Given the description of an element on the screen output the (x, y) to click on. 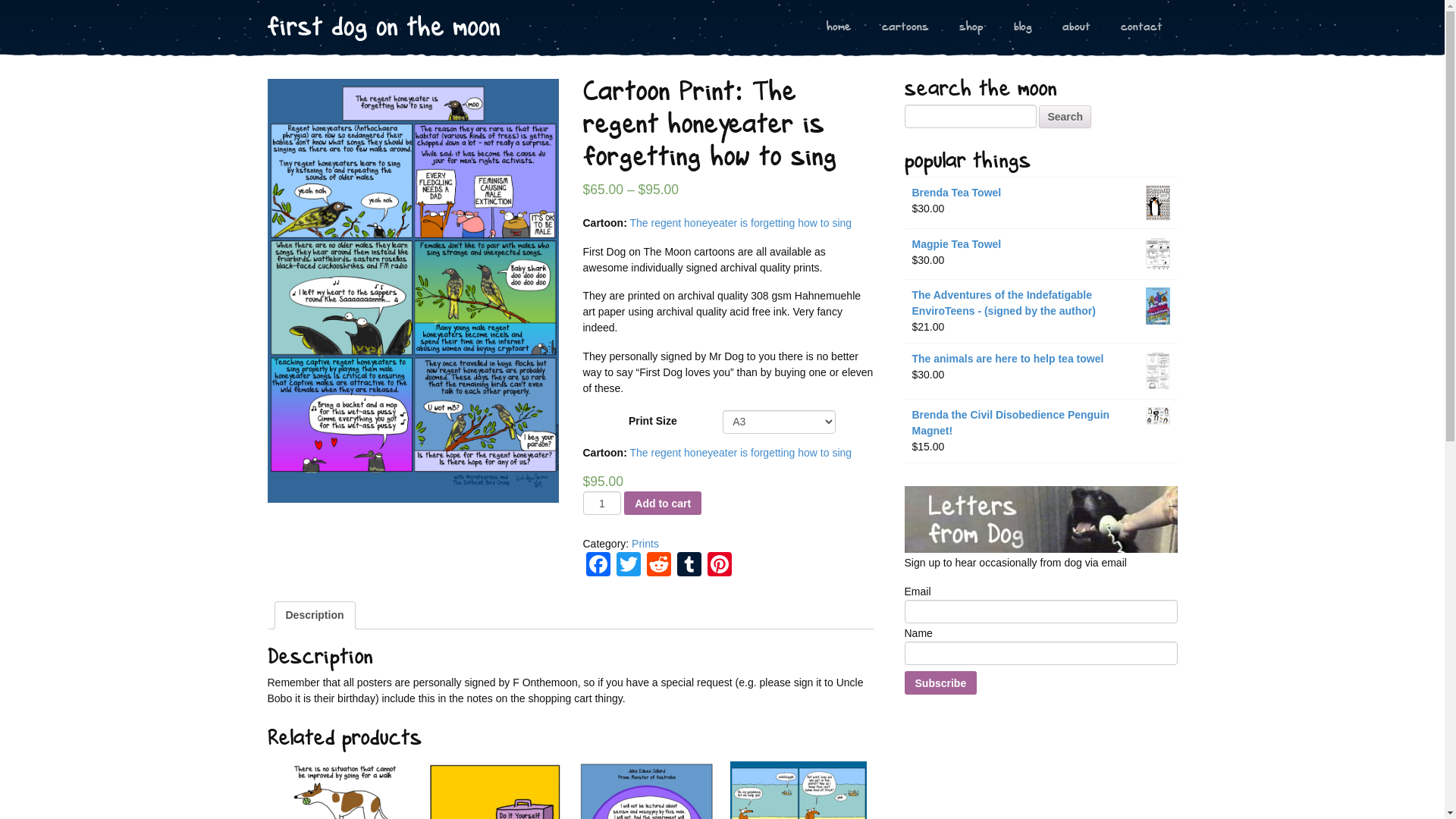
Reddit Element type: text (658, 566)
First Dog On The Moon Element type: text (382, 27)
home Element type: text (838, 27)
Facebook Element type: text (597, 566)
Description Element type: text (314, 615)
cartoons Element type: text (904, 27)
Pinterest Element type: text (718, 566)
contact Element type: text (1141, 27)
Brenda Tea Towel Element type: text (1040, 192)
Tumblr Element type: text (688, 566)
Prints Element type: text (644, 543)
blog Element type: text (1021, 27)
Subscribe Element type: text (939, 682)
Magpie Tea Towel Element type: text (1040, 244)
Brenda the Civil Disobedience Penguin Magnet! Element type: text (1040, 423)
Add to cart Element type: text (662, 502)
The regent honeyeater is forgetting how to sing Element type: text (740, 452)
Qty Element type: hover (601, 502)
Search Element type: text (1064, 115)
The regent honeyeater is forgetting how to sing Element type: text (740, 222)
Twitter Element type: text (627, 566)
shop Element type: text (970, 27)
The animals are here to help tea towel Element type: text (1040, 359)
about Element type: text (1075, 27)
